Given the description of an element on the screen output the (x, y) to click on. 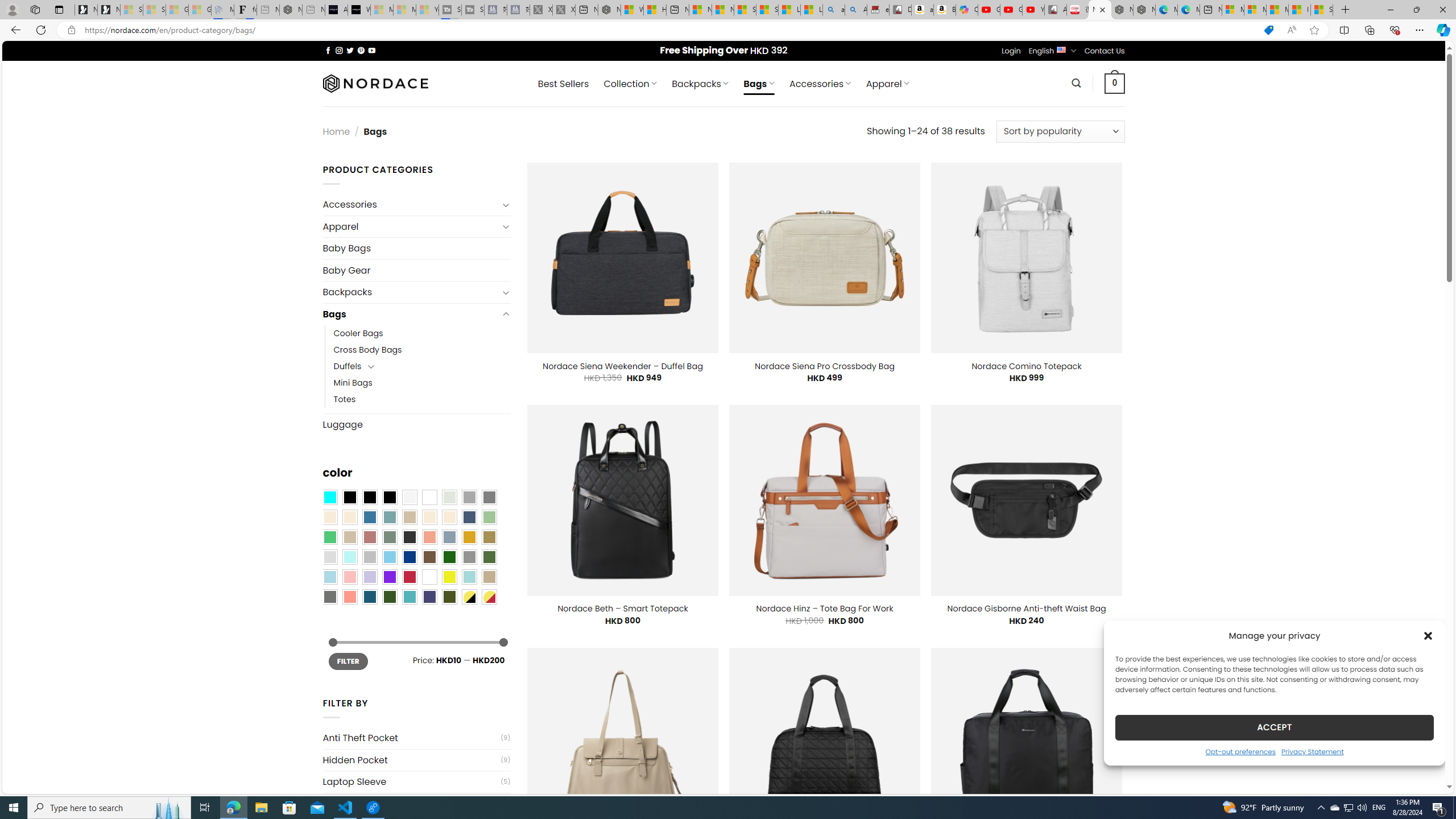
Caramel (429, 517)
Gold (468, 536)
Nordace - Nordace has arrived Hong Kong (1144, 9)
Nordace Comino Totepack (1026, 365)
Kelp (488, 536)
Baby Gear (416, 270)
All Gray (488, 497)
